Given the description of an element on the screen output the (x, y) to click on. 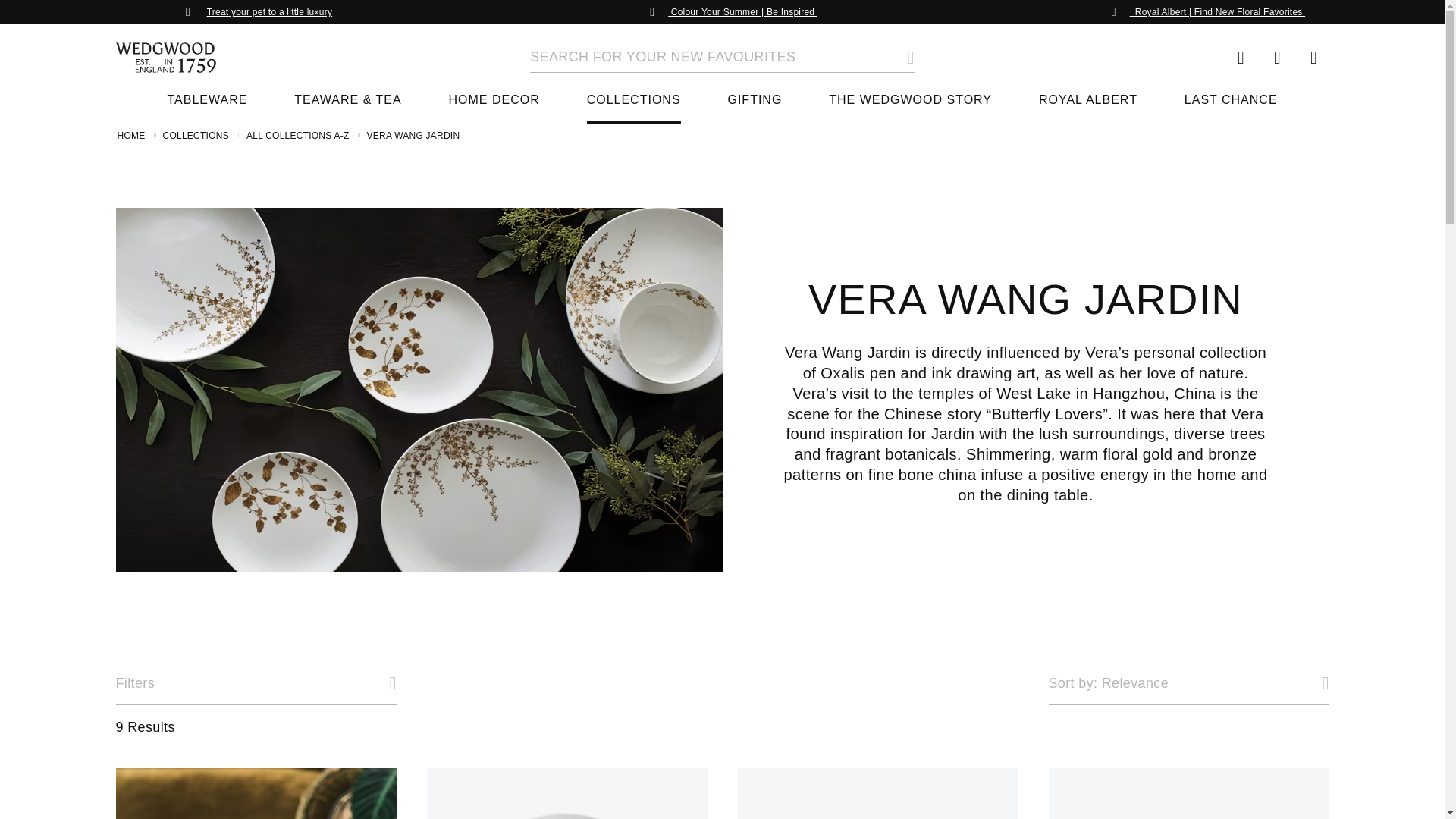
Global gateway (1240, 57)
Pet Bowls (255, 793)
Login (1277, 57)
Treat your pet to a little luxury (1187, 683)
Shopping cart (269, 11)
TABLEWARE (1313, 57)
